Given the description of an element on the screen output the (x, y) to click on. 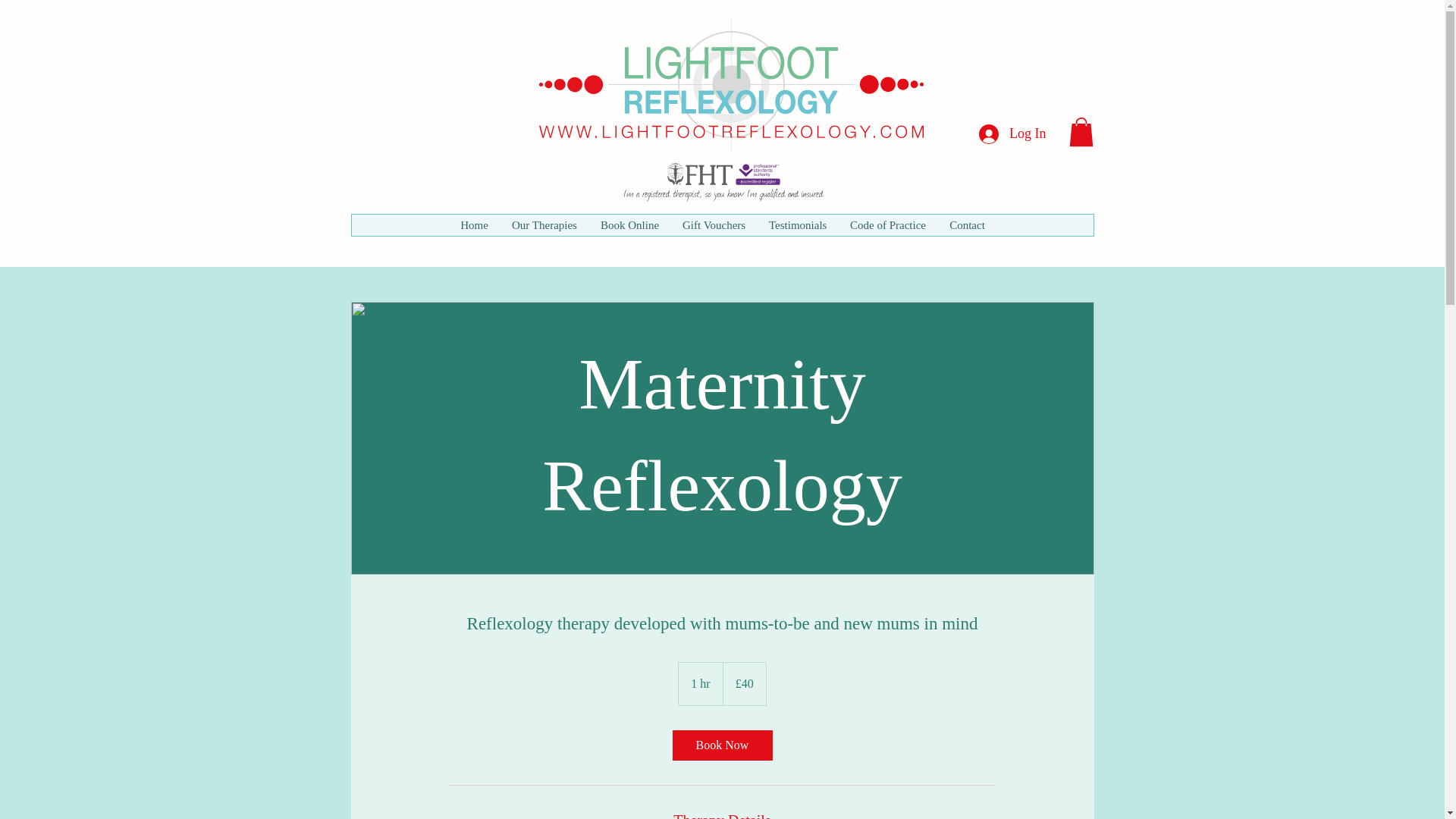
Gift Vouchers (713, 224)
Testimonials (797, 224)
Book Online (628, 224)
Home (473, 224)
Code of Practice (887, 224)
Contact (966, 224)
Our Therapies (543, 224)
Book Now (721, 744)
Log In (1012, 133)
